Given the description of an element on the screen output the (x, y) to click on. 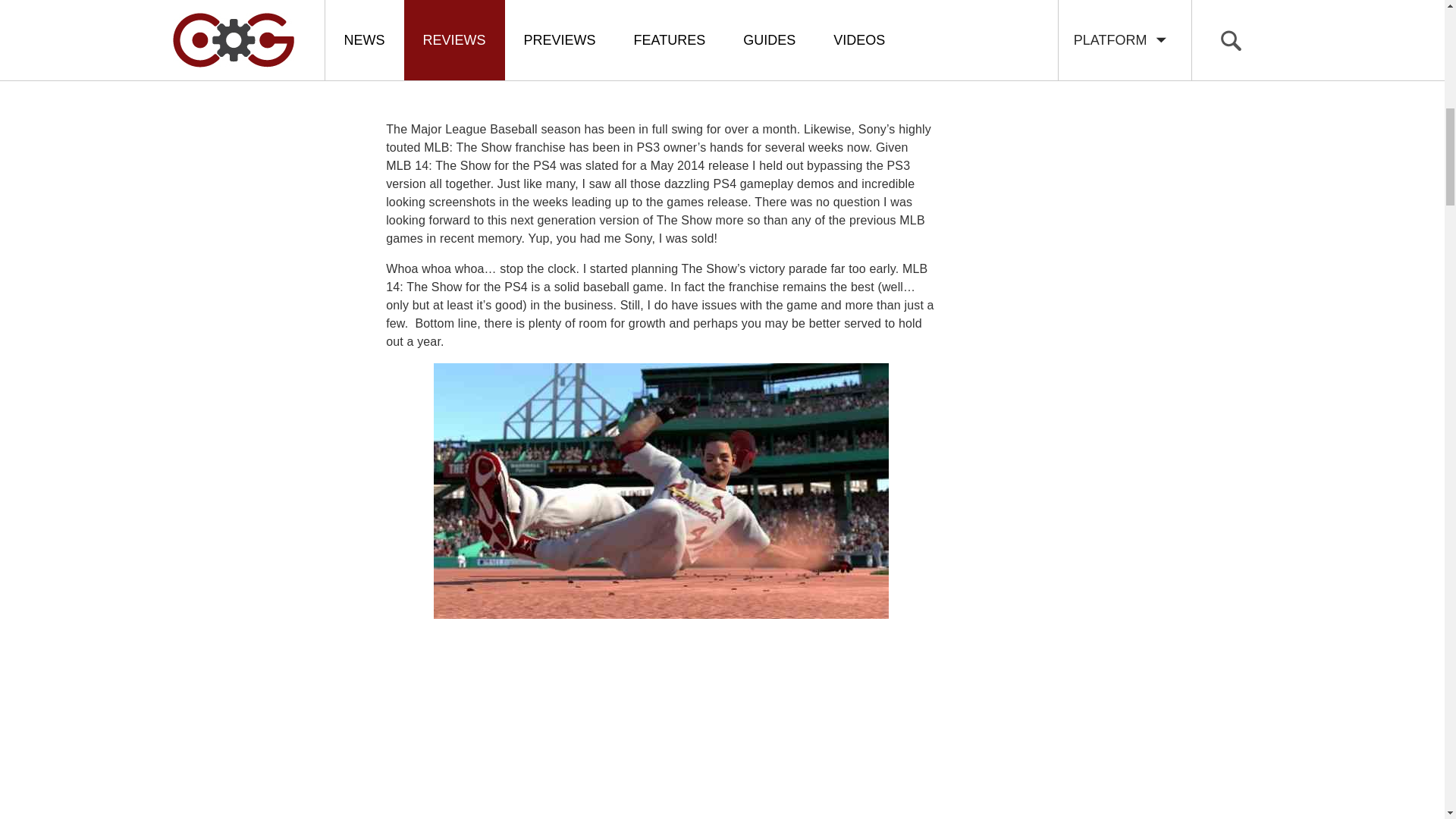
MLB09 (227, 40)
